Given the description of an element on the screen output the (x, y) to click on. 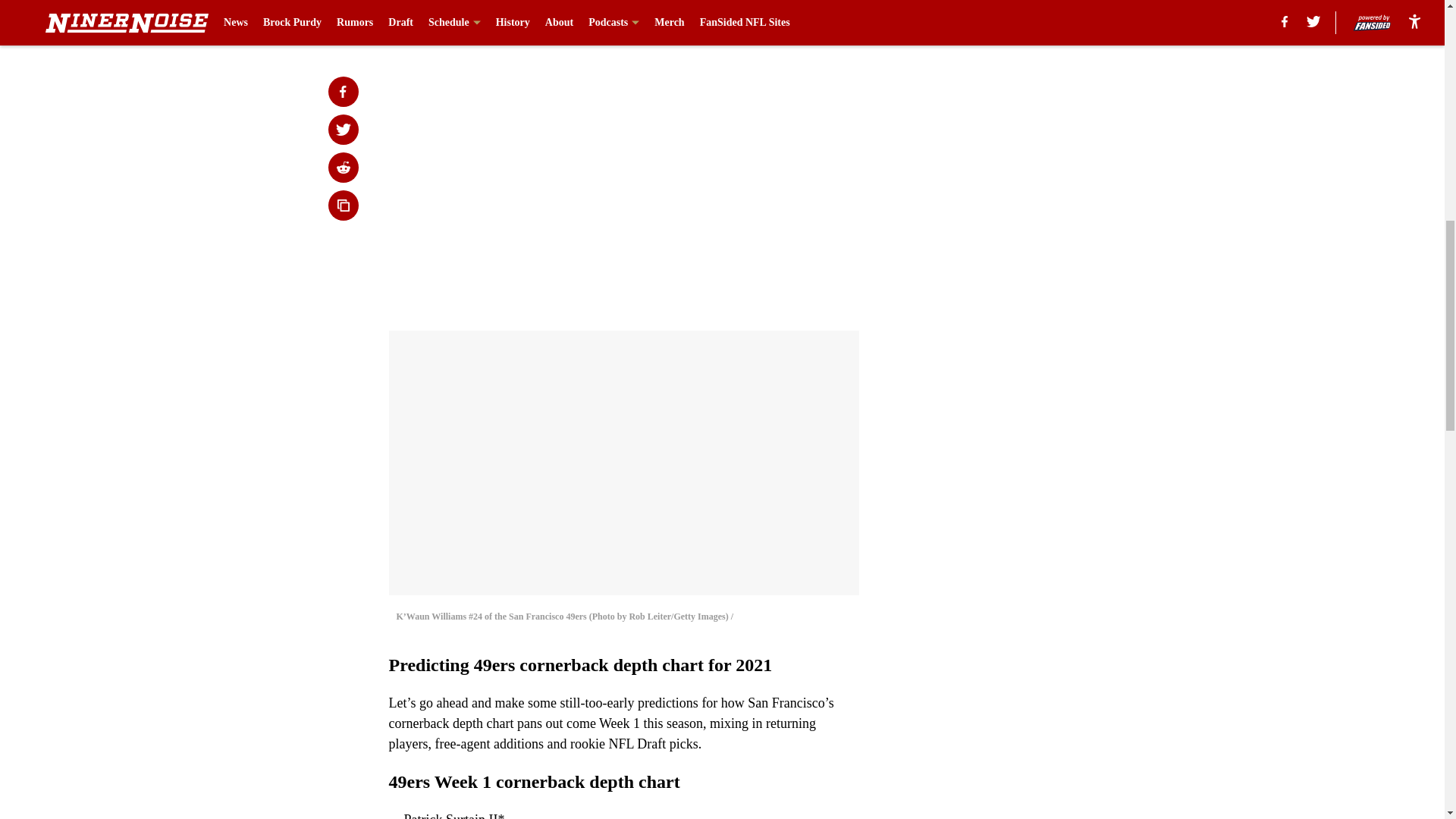
Prev (433, 20)
Next (813, 20)
